Given the description of an element on the screen output the (x, y) to click on. 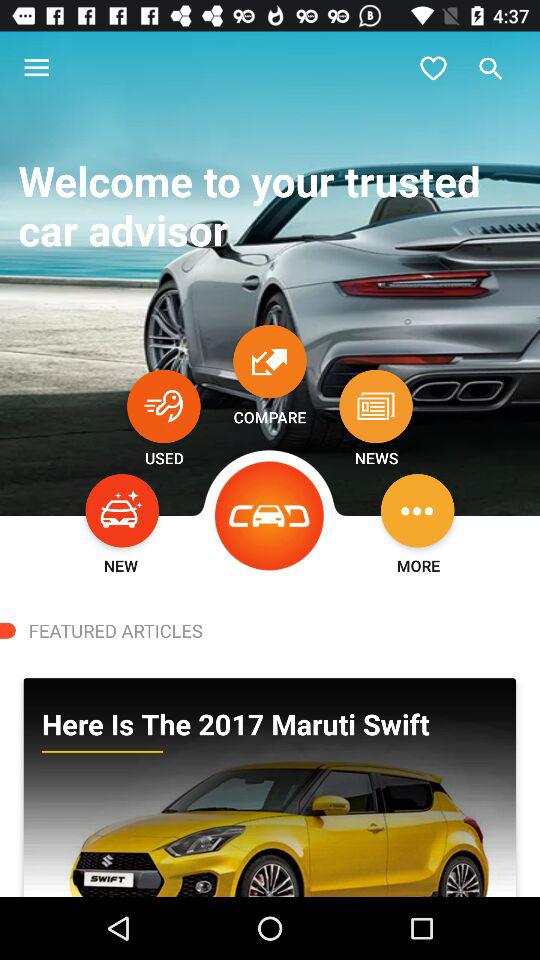
choose the item above the compare item (269, 361)
